Given the description of an element on the screen output the (x, y) to click on. 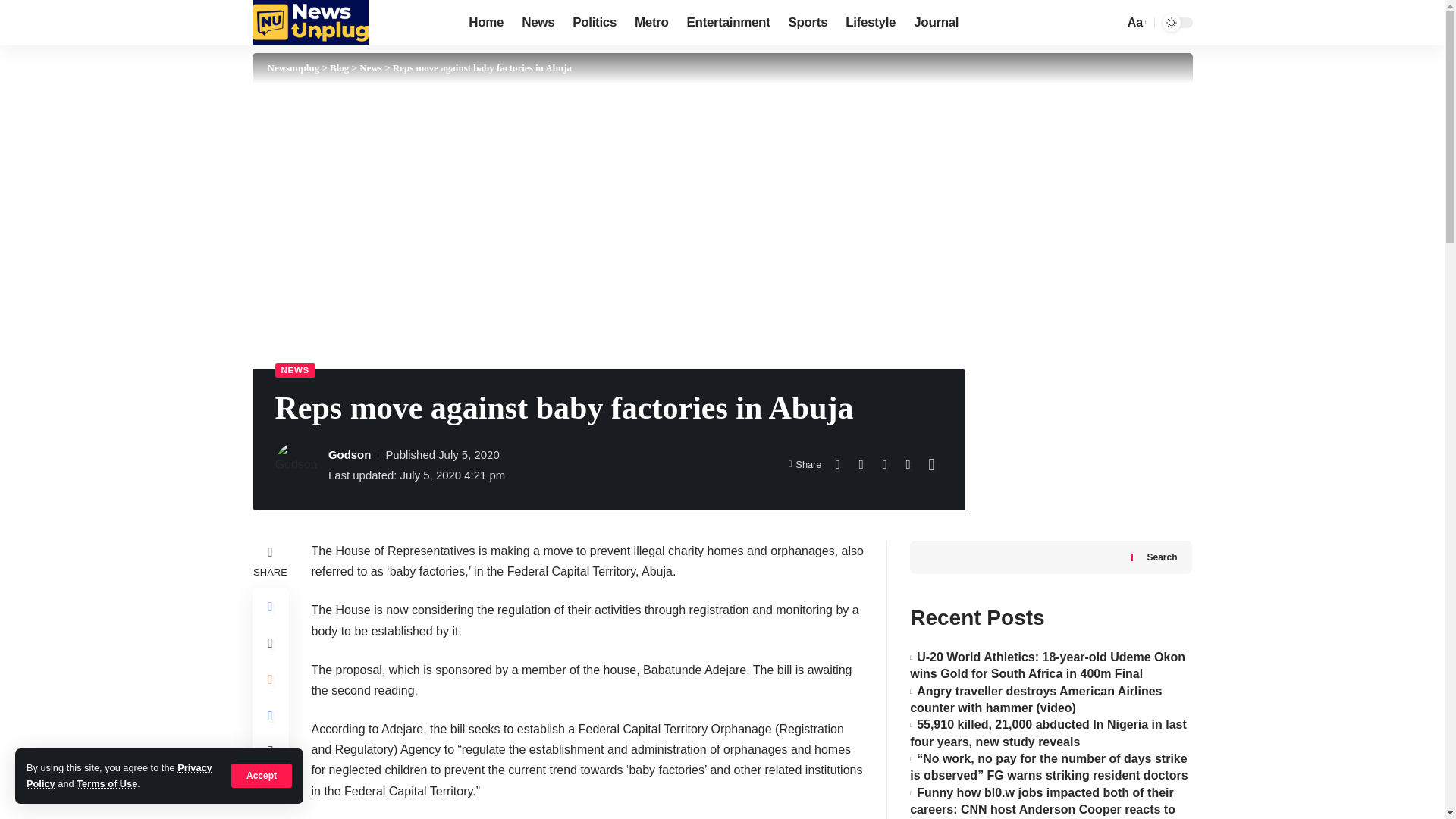
Journal (936, 22)
Sports (806, 22)
Go to the News Category archives. (370, 67)
Go to Blog. (339, 67)
News (537, 22)
Aa (1135, 22)
Terms of Use (106, 783)
Privacy Policy (119, 775)
Home (486, 22)
Metro (652, 22)
